Given the description of an element on the screen output the (x, y) to click on. 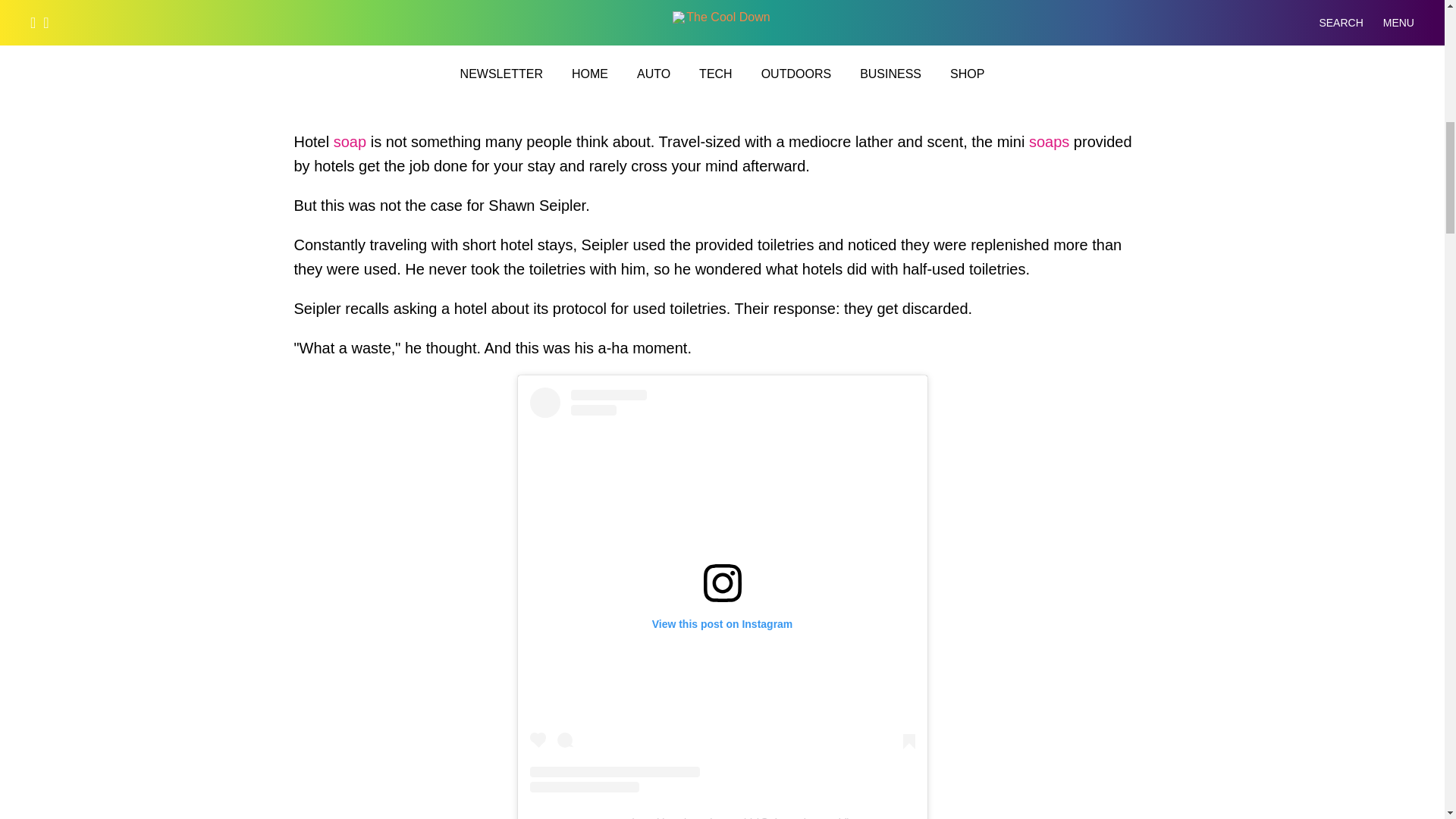
soaps (1048, 141)
Top clean hand soaps for non-toxic hand washing (349, 141)
soap (349, 141)
Top clean hand soaps for non-toxic hand washing (1048, 141)
